Given the description of an element on the screen output the (x, y) to click on. 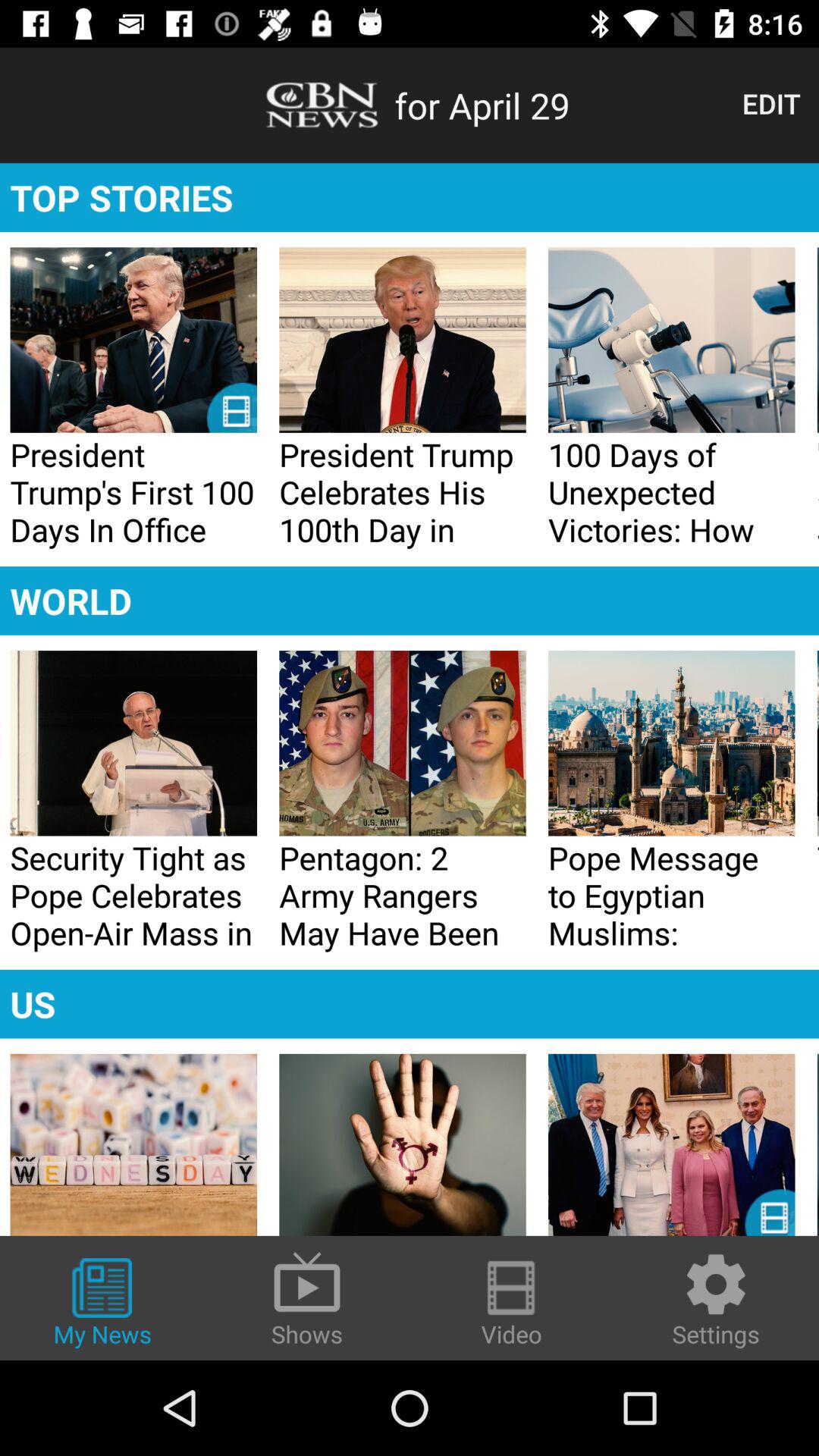
turn on settings (715, 1299)
